Given the description of an element on the screen output the (x, y) to click on. 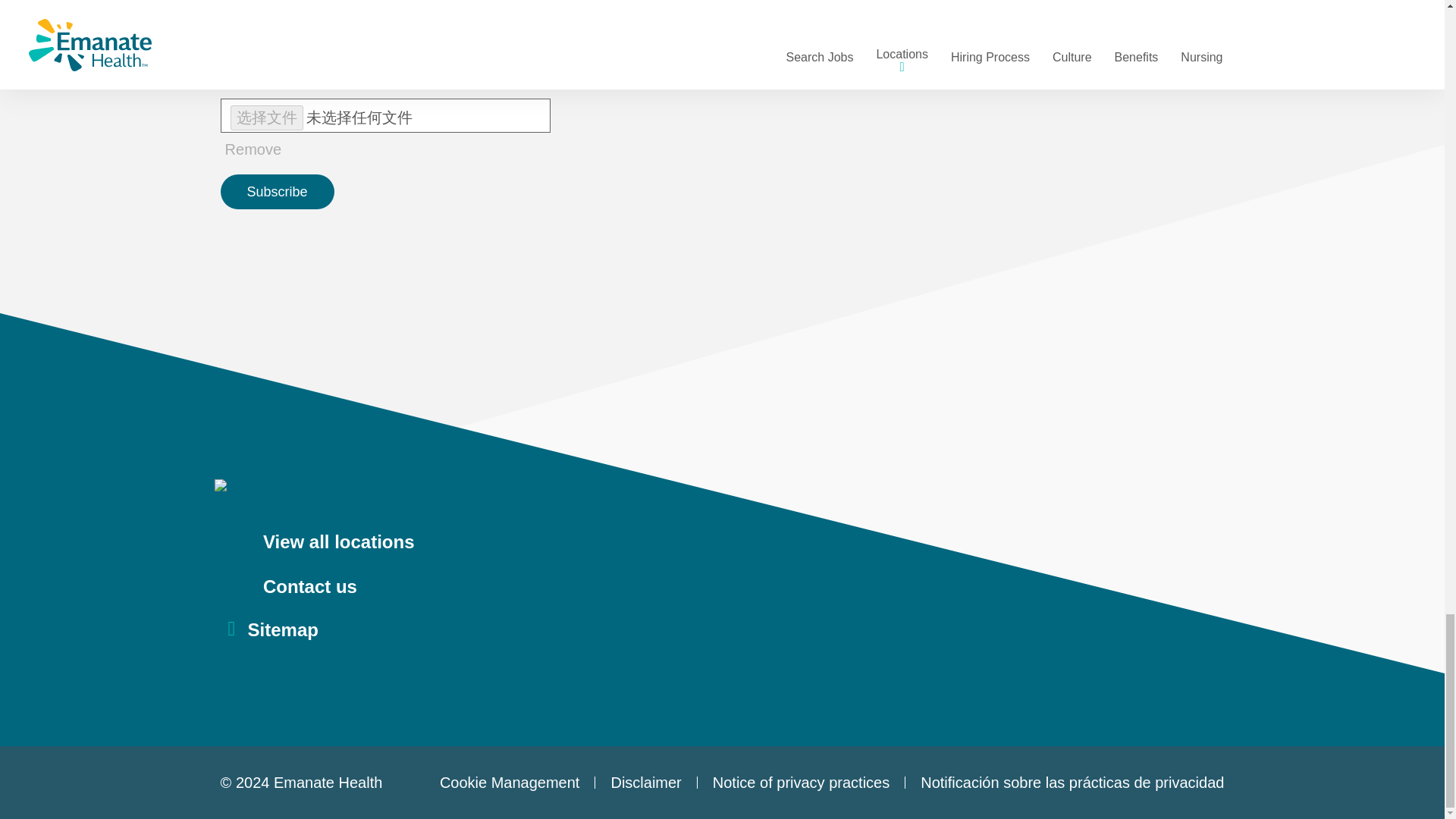
Remove (516, 7)
View all locations (728, 542)
Remove (253, 149)
Subscribe (277, 191)
Contact us (728, 587)
